Given the description of an element on the screen output the (x, y) to click on. 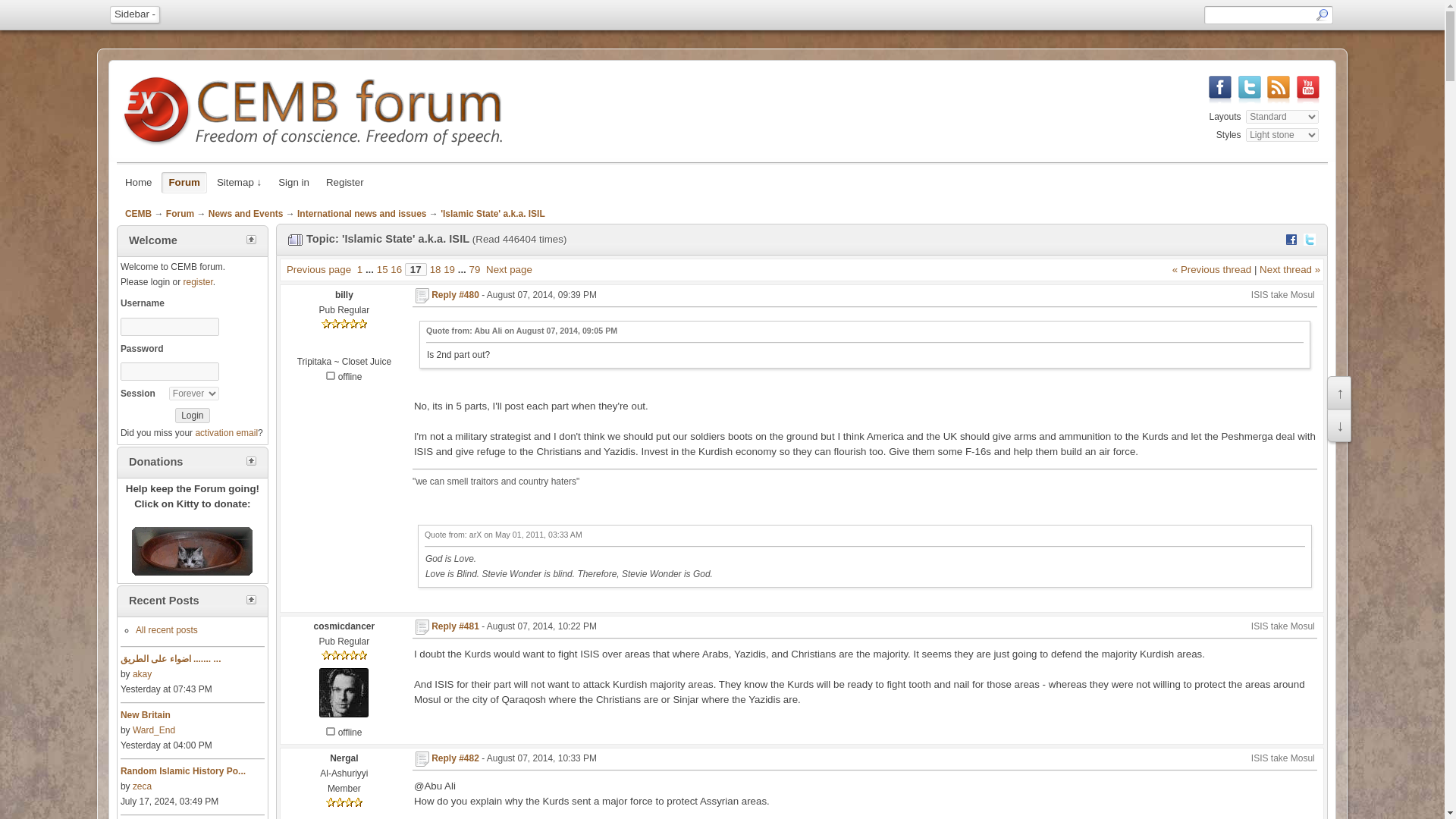
CEMB forum on Twitter (1249, 101)
Post to Facebook (1291, 239)
International news and issues (361, 214)
CEMB (138, 214)
Login (191, 415)
Tweet this! (1309, 239)
register (197, 281)
Our RSS feed (1278, 101)
Login (191, 415)
All recent posts (166, 629)
Home (137, 182)
Sitemap (238, 182)
Please feed Kitty (191, 551)
Forum (183, 182)
CEMB forum on Facebook (1219, 101)
